Given the description of an element on the screen output the (x, y) to click on. 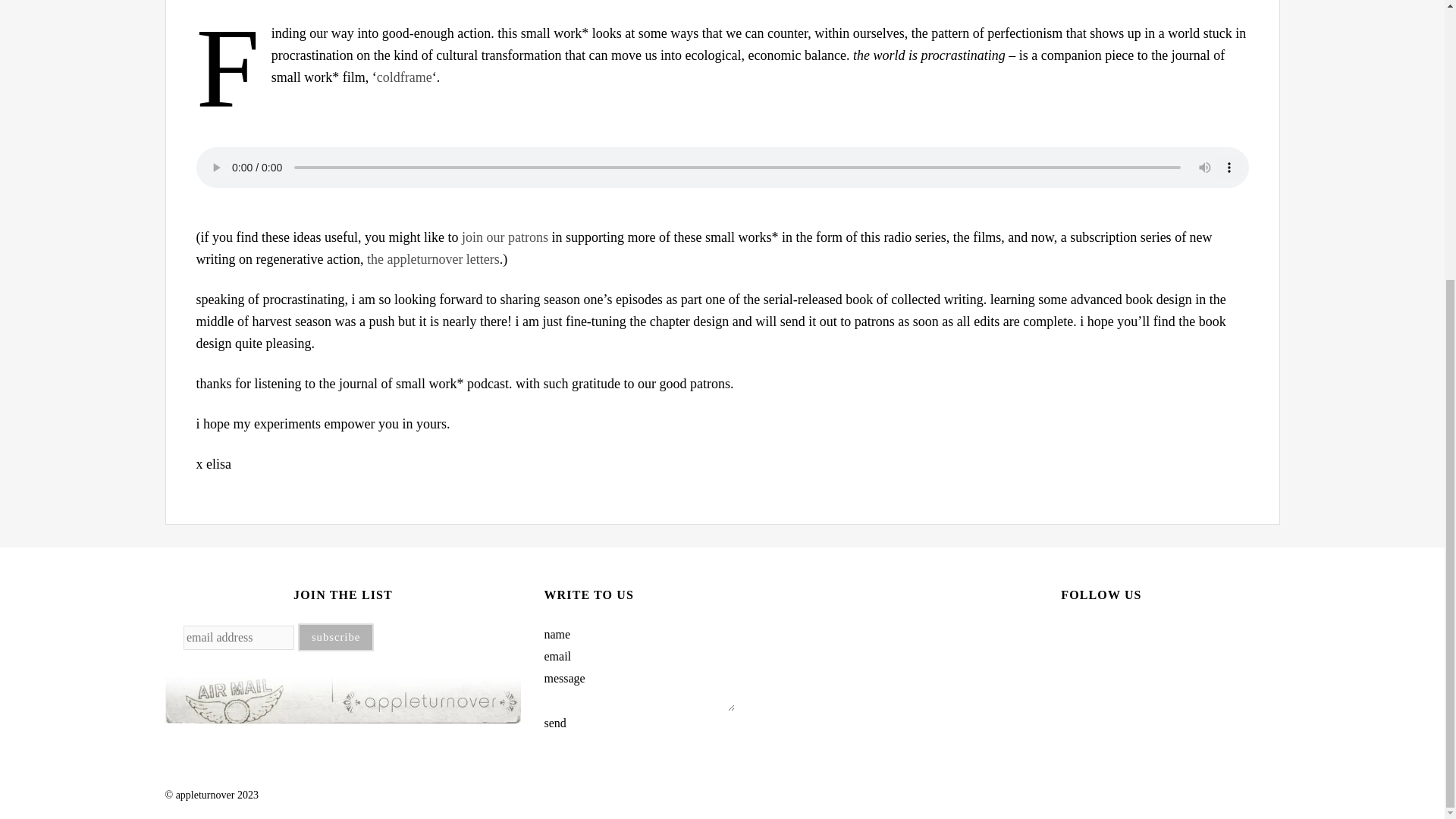
appleturnover (217, 794)
postcard signup (343, 700)
Facebook (1129, 635)
send (554, 723)
YouTube (1101, 635)
join our patrons (503, 237)
Instagram (1072, 635)
the appleturnover letters (432, 258)
subscribe (336, 637)
appleturnover 2023 (217, 794)
